Given the description of an element on the screen output the (x, y) to click on. 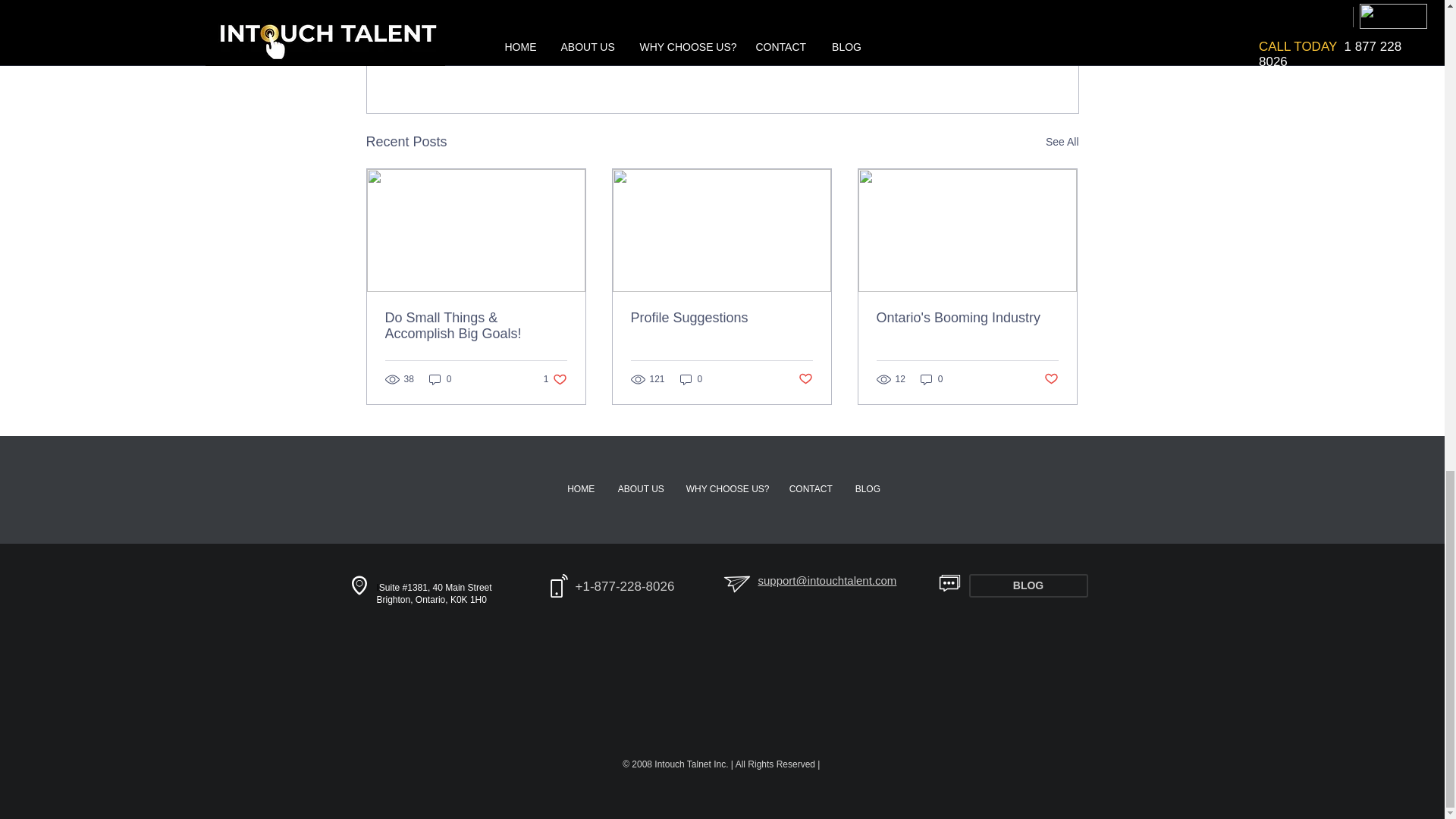
Profile Suggestions (721, 317)
0 (691, 379)
HOME (581, 488)
Post not marked as liked (804, 379)
ABOUT US (641, 488)
See All (1061, 142)
BLOG (1028, 585)
0 (440, 379)
WHY CHOOSE US? (990, 59)
CONTACT (726, 488)
Ontario's Booming Industry (810, 488)
Post not marked as liked (967, 317)
0 (1050, 379)
